Given the description of an element on the screen output the (x, y) to click on. 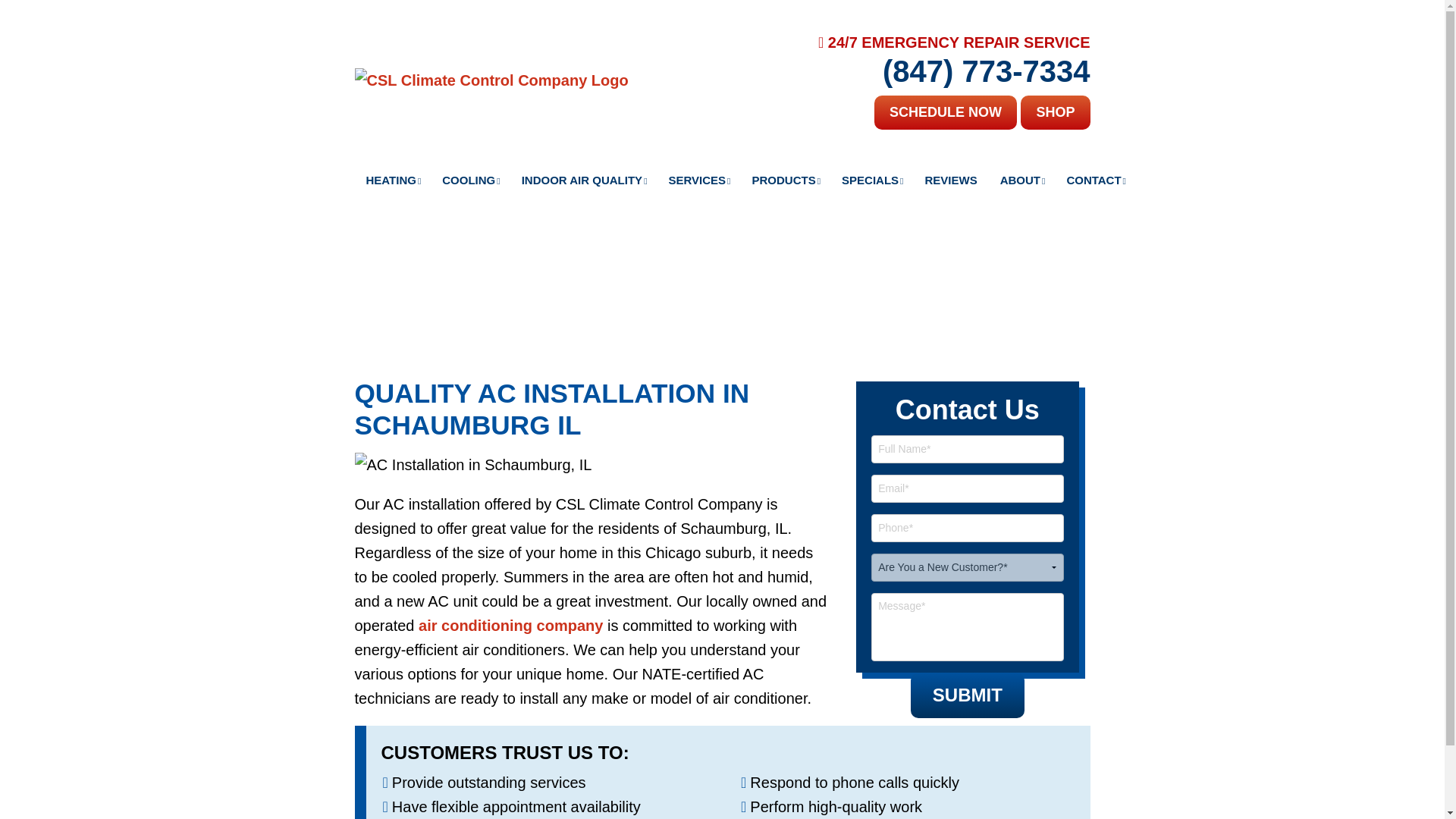
SPECIALS (870, 179)
REVIEWS (950, 179)
SHOP (1054, 112)
PRODUCTS (784, 179)
SCHEDULE NOW (945, 112)
HEATING (392, 179)
Submit (968, 695)
SERVICES (699, 179)
COOLING (469, 179)
CSL Climate Control Company (491, 79)
INDOOR AIR QUALITY (584, 179)
